Given the description of an element on the screen output the (x, y) to click on. 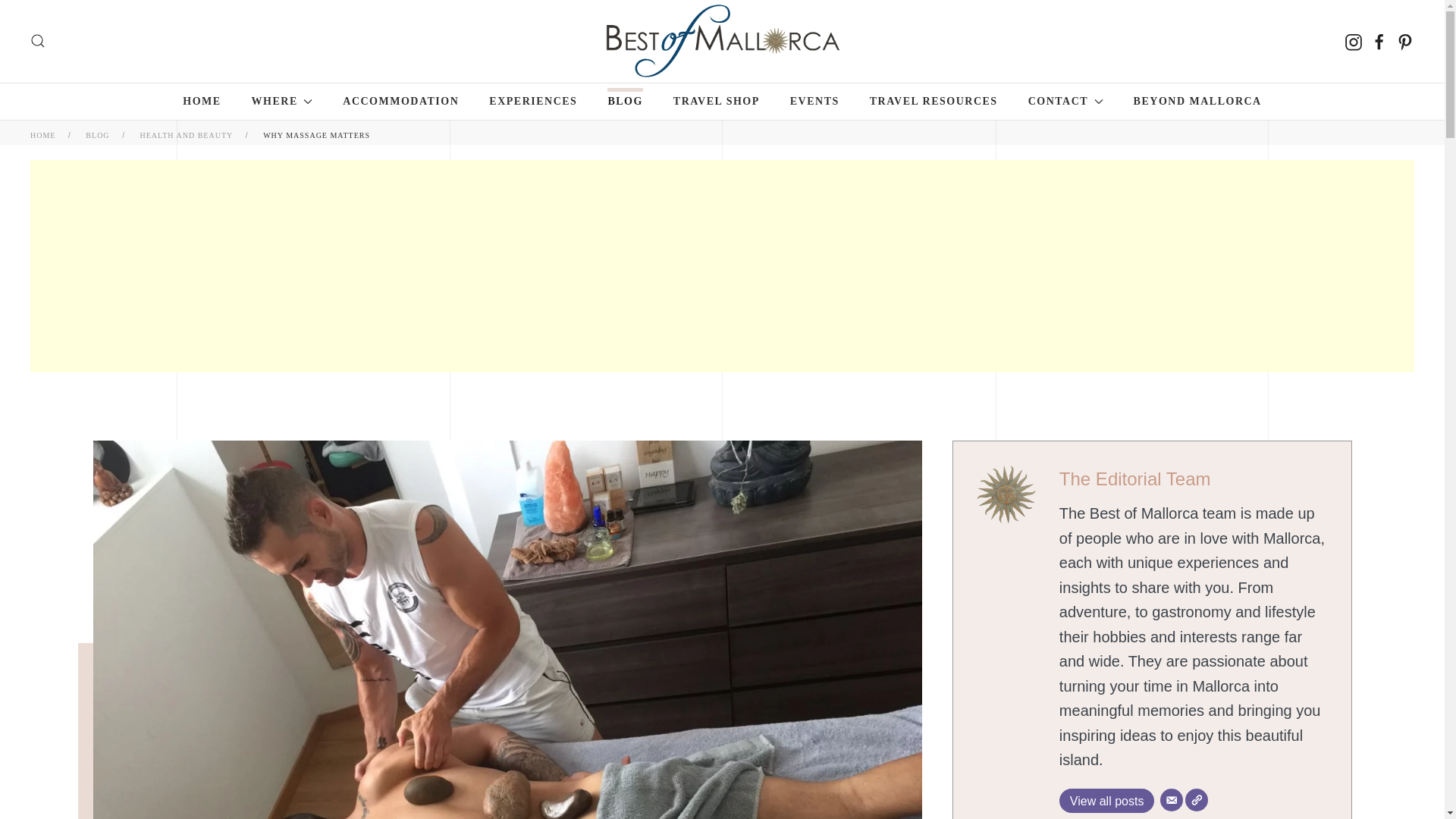
WHERE (282, 101)
TRAVEL SHOP (716, 101)
EVENTS (815, 101)
CONTACT (1065, 101)
The Editorial Team (1135, 478)
EXPERIENCES (532, 101)
BLOG (624, 101)
TRAVEL RESOURCES (933, 101)
HOME (202, 101)
ACCOMMODATION (400, 101)
View all posts (1106, 800)
